Given the description of an element on the screen output the (x, y) to click on. 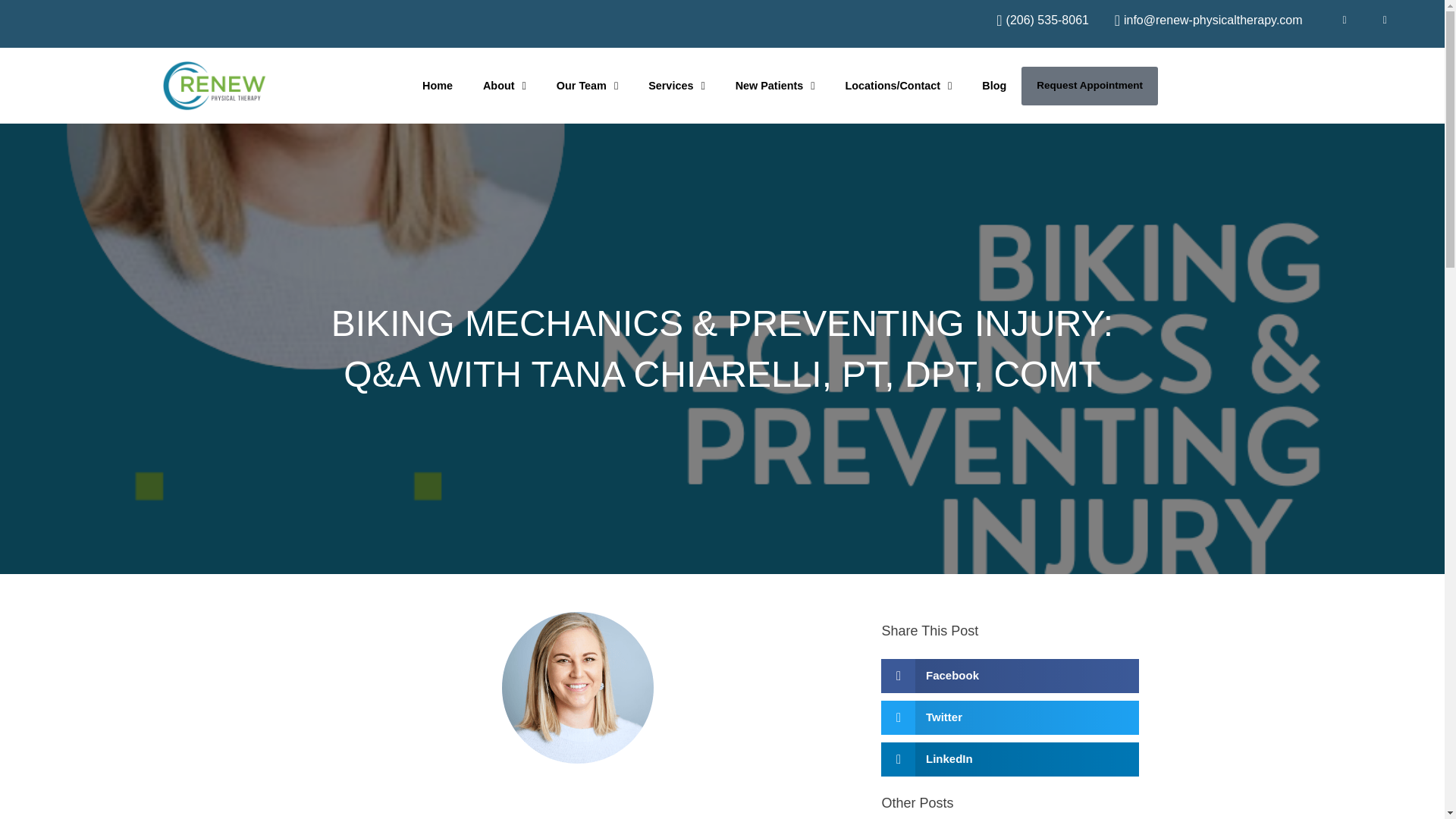
Services (676, 85)
Our Team (587, 85)
About (504, 85)
Blog (994, 85)
New Patients (774, 85)
Home (437, 85)
Request Appointment (1089, 85)
